Given the description of an element on the screen output the (x, y) to click on. 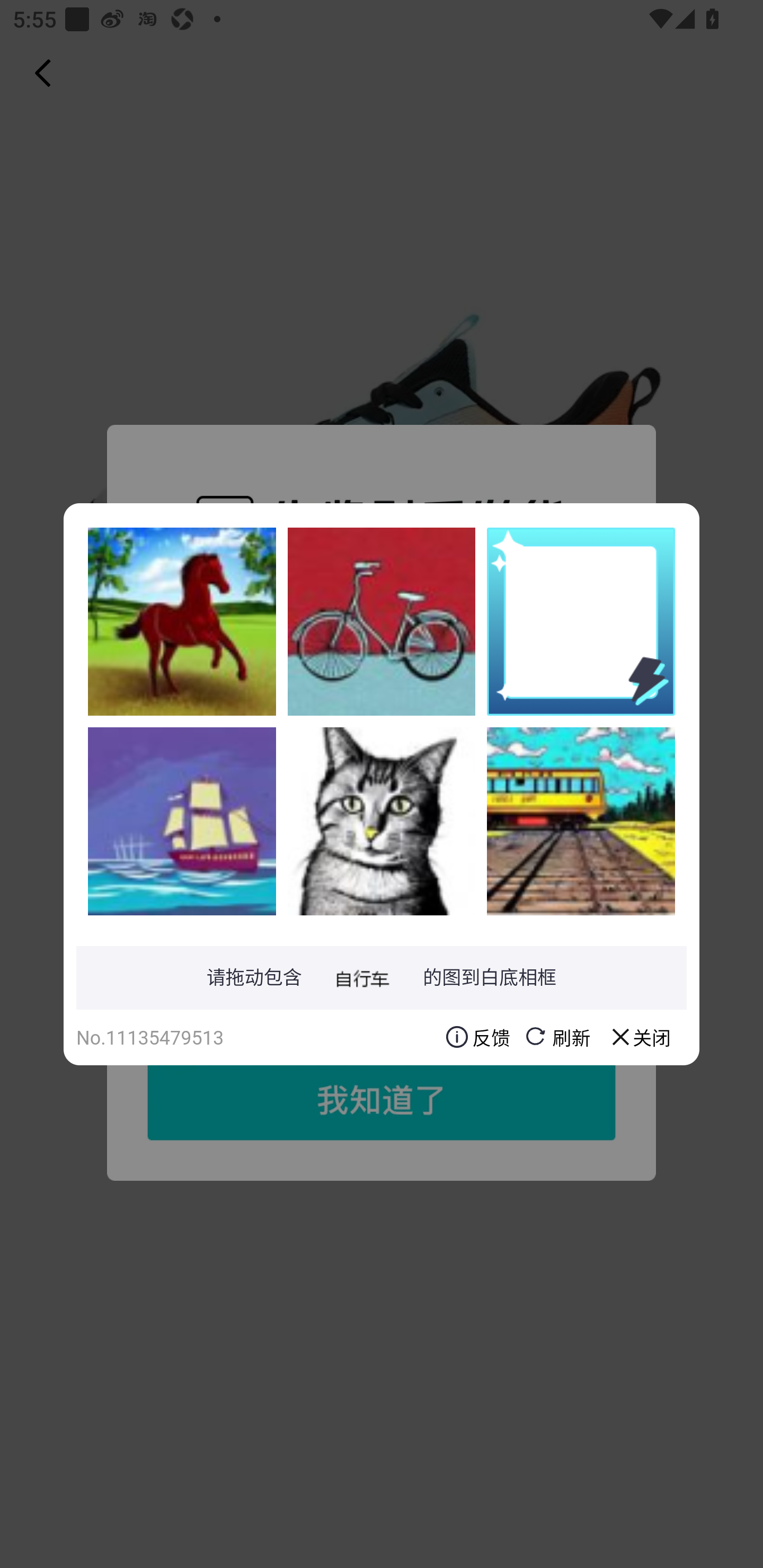
UVYaNqgn9evVNVCHDR0sy5YultnBM2X7tlh16w2ybX (381, 820)
IKLueu4X (580, 820)
